Given the description of an element on the screen output the (x, y) to click on. 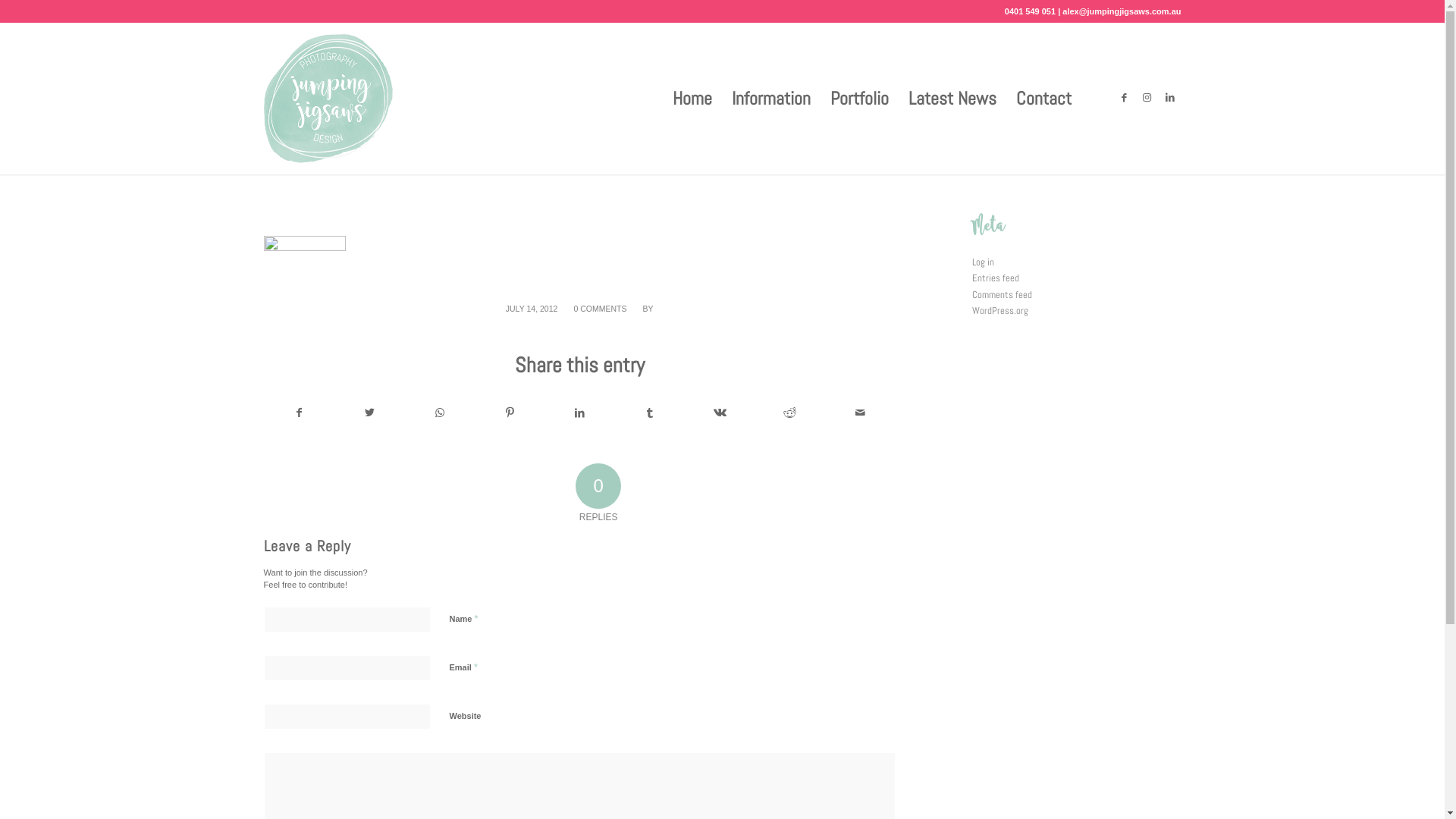
Information Element type: text (770, 98)
Log in Element type: text (983, 261)
Entries feed Element type: text (995, 277)
Facebook Element type: hover (1124, 97)
Latest News Element type: text (951, 98)
Contact Element type: text (1042, 98)
Instagram Element type: hover (1146, 97)
Comments feed Element type: text (1002, 294)
Portfolio Element type: text (859, 98)
0 COMMENTS Element type: text (599, 308)
LinkedIn Element type: hover (1169, 97)
WordPress.org Element type: text (1000, 310)
Home Element type: text (691, 98)
alex@jumpingjigsaws.com.au Element type: text (1121, 10)
